Given the description of an element on the screen output the (x, y) to click on. 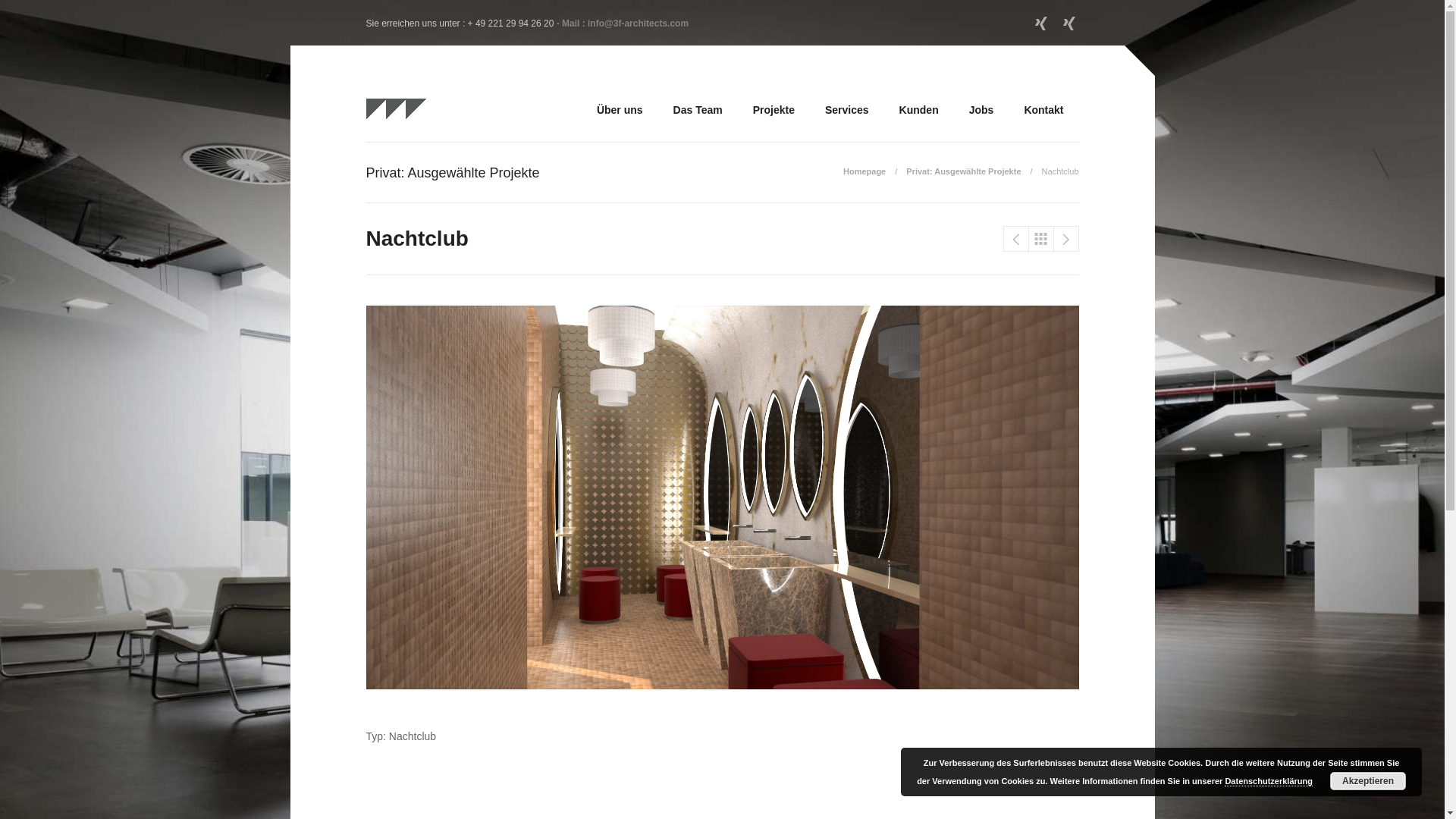
Projekte Element type: text (773, 120)
Das Team Element type: text (697, 120)
Kontakt Element type: text (1043, 120)
Jobs Element type: text (981, 120)
Akzeptieren Element type: text (1367, 780)
Kunden Element type: text (918, 120)
Ostendorf Element type: text (1065, 238)
Intersport Krumholz, Fassadenkonzepte Element type: text (1015, 238)
Services Element type: text (846, 120)
- Mail : info@3f-architects.com Element type: text (622, 23)
Homepage Element type: text (874, 170)
